Given the description of an element on the screen output the (x, y) to click on. 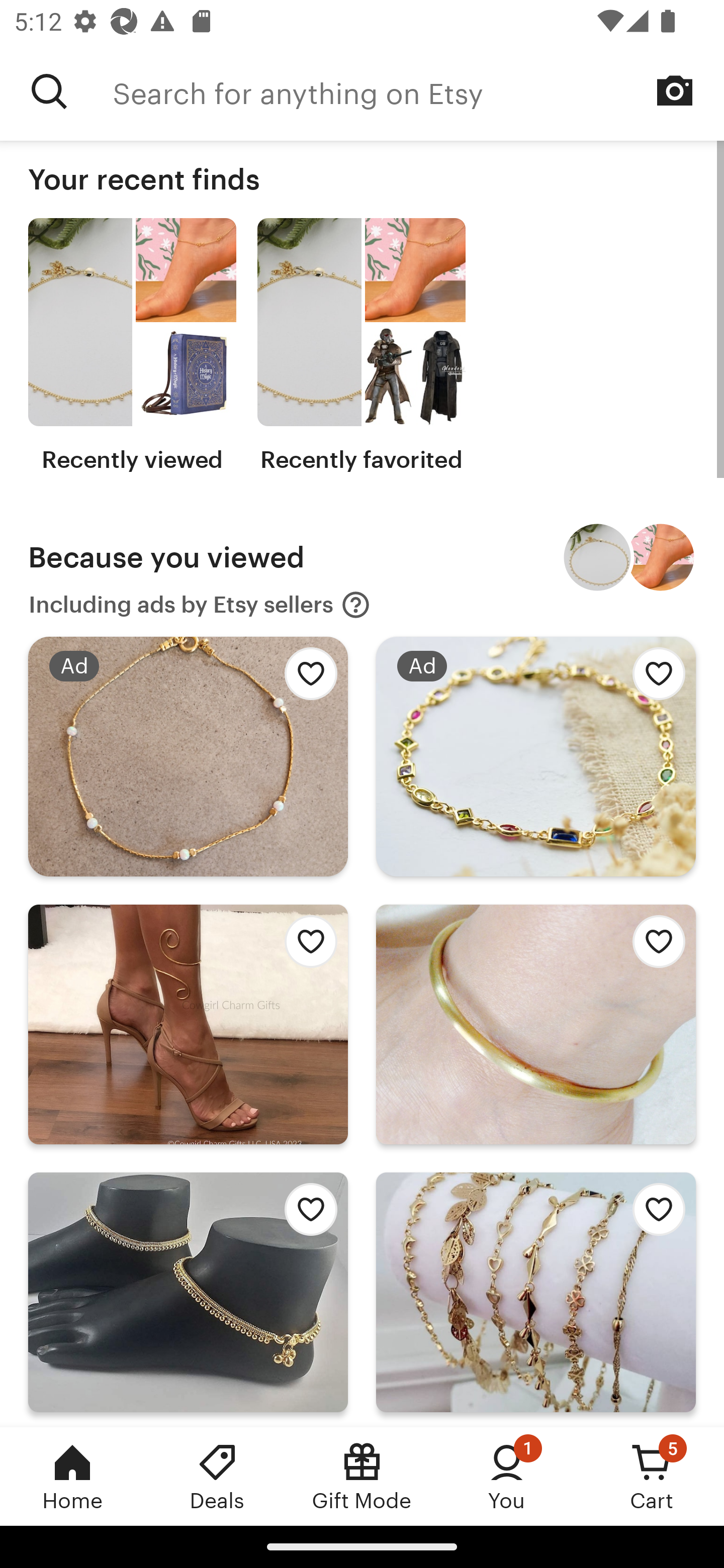
Search for anything on Etsy (49, 91)
Search by image (674, 90)
Search for anything on Etsy (418, 91)
Recently viewed (132, 345)
Recently favorited (361, 345)
Including ads by Etsy sellers (199, 604)
Deals (216, 1475)
Gift Mode (361, 1475)
You, 1 new notification You (506, 1475)
Cart, 5 new notifications Cart (651, 1475)
